Given the description of an element on the screen output the (x, y) to click on. 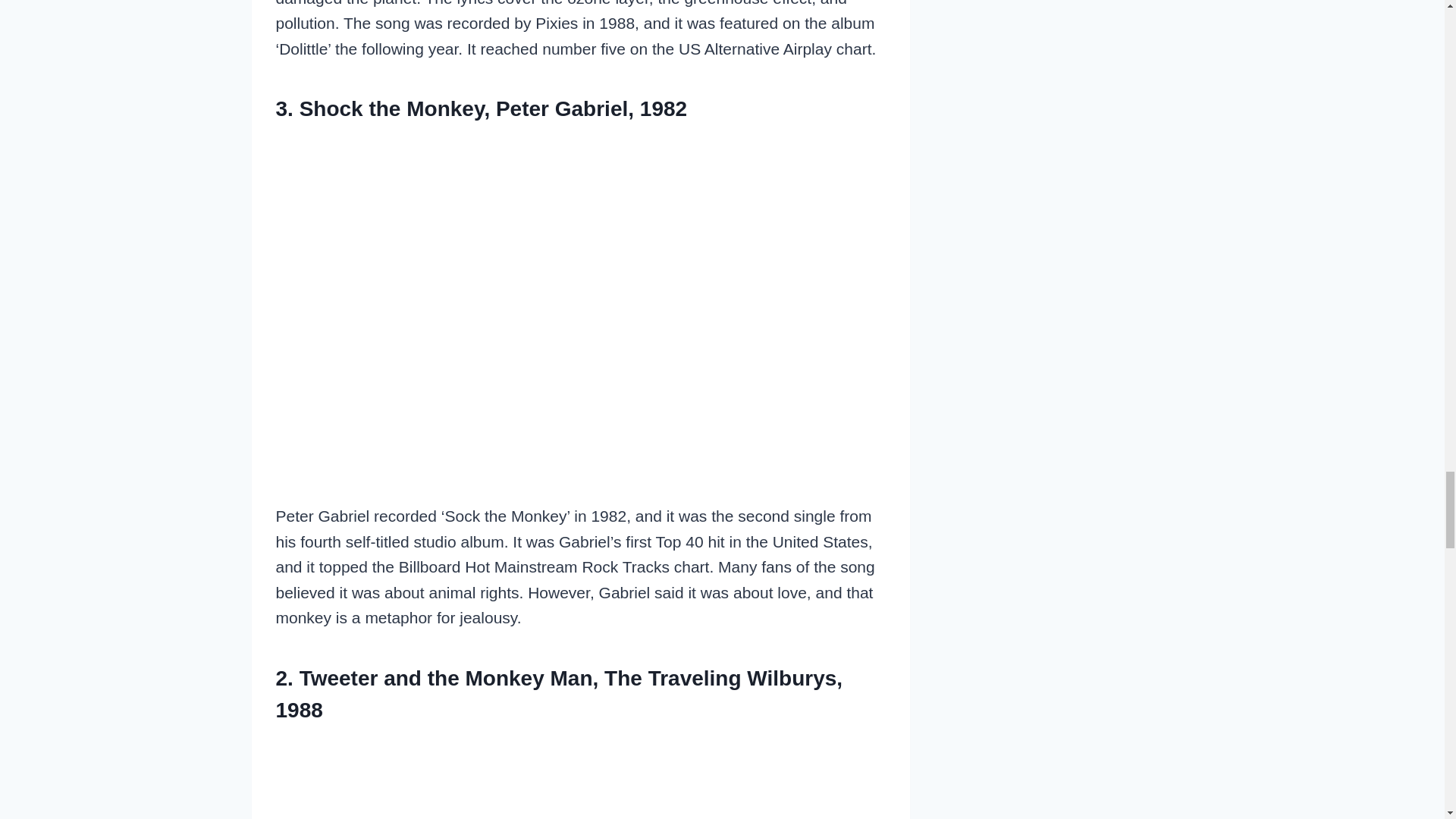
Tweeter And The Monkey Man (581, 778)
